Given the description of an element on the screen output the (x, y) to click on. 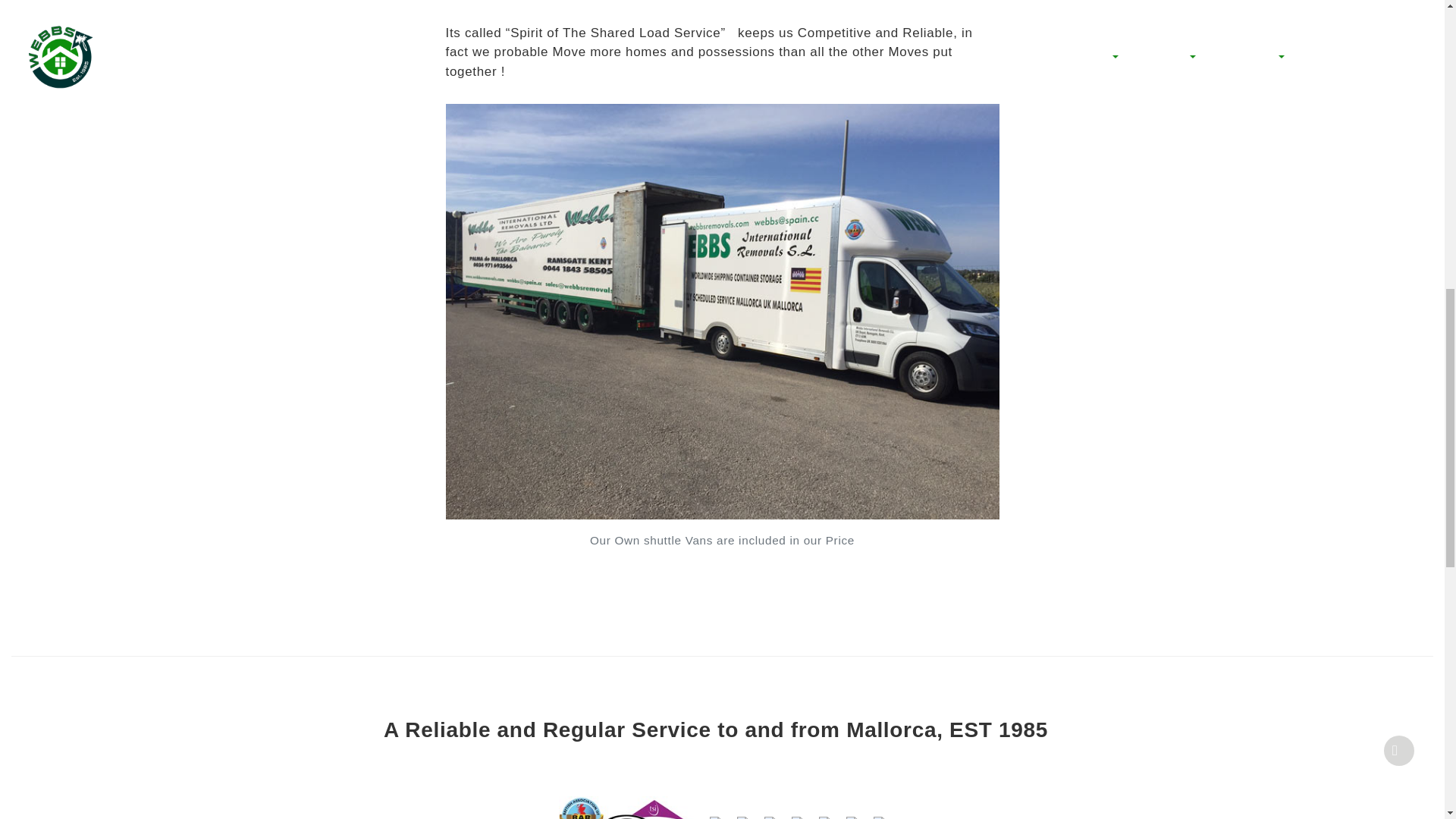
Visit Facebook (824, 814)
Price Promised (743, 814)
Furniture Ombudsman (770, 814)
Visit BAR (852, 814)
Webbs Local (797, 814)
Visit BAR (626, 803)
Visit BAR (879, 814)
Visit BAR (715, 814)
